Given the description of an element on the screen output the (x, y) to click on. 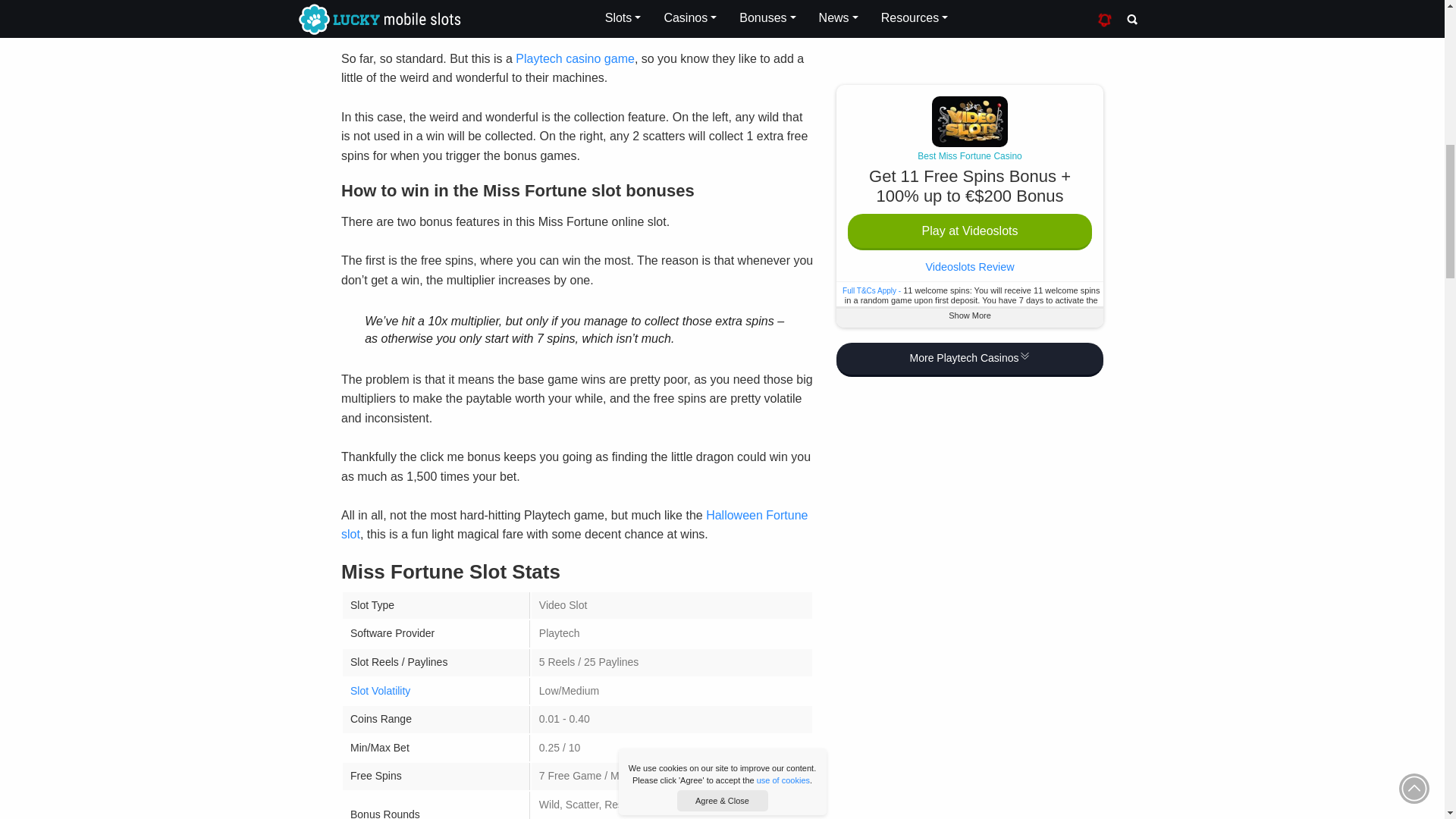
Playtech Casino Games (574, 58)
Halloween Fortune Slot Review (574, 524)
Learn about slot volatility and variance (380, 690)
